Given the description of an element on the screen output the (x, y) to click on. 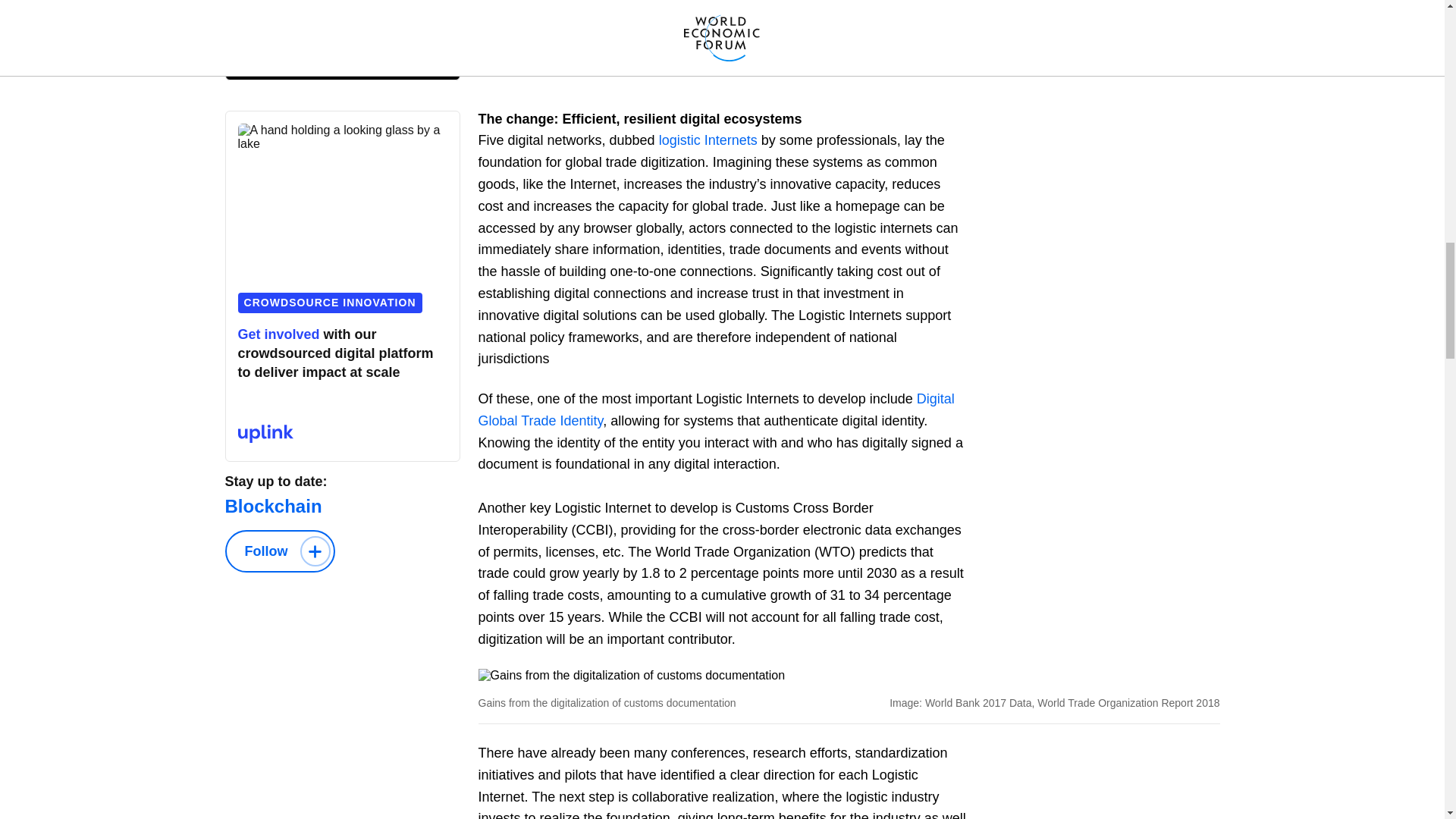
logistic Internets (708, 140)
Digital Global Trade Identity (715, 409)
Show more (549, 52)
Follow (279, 550)
